Given the description of an element on the screen output the (x, y) to click on. 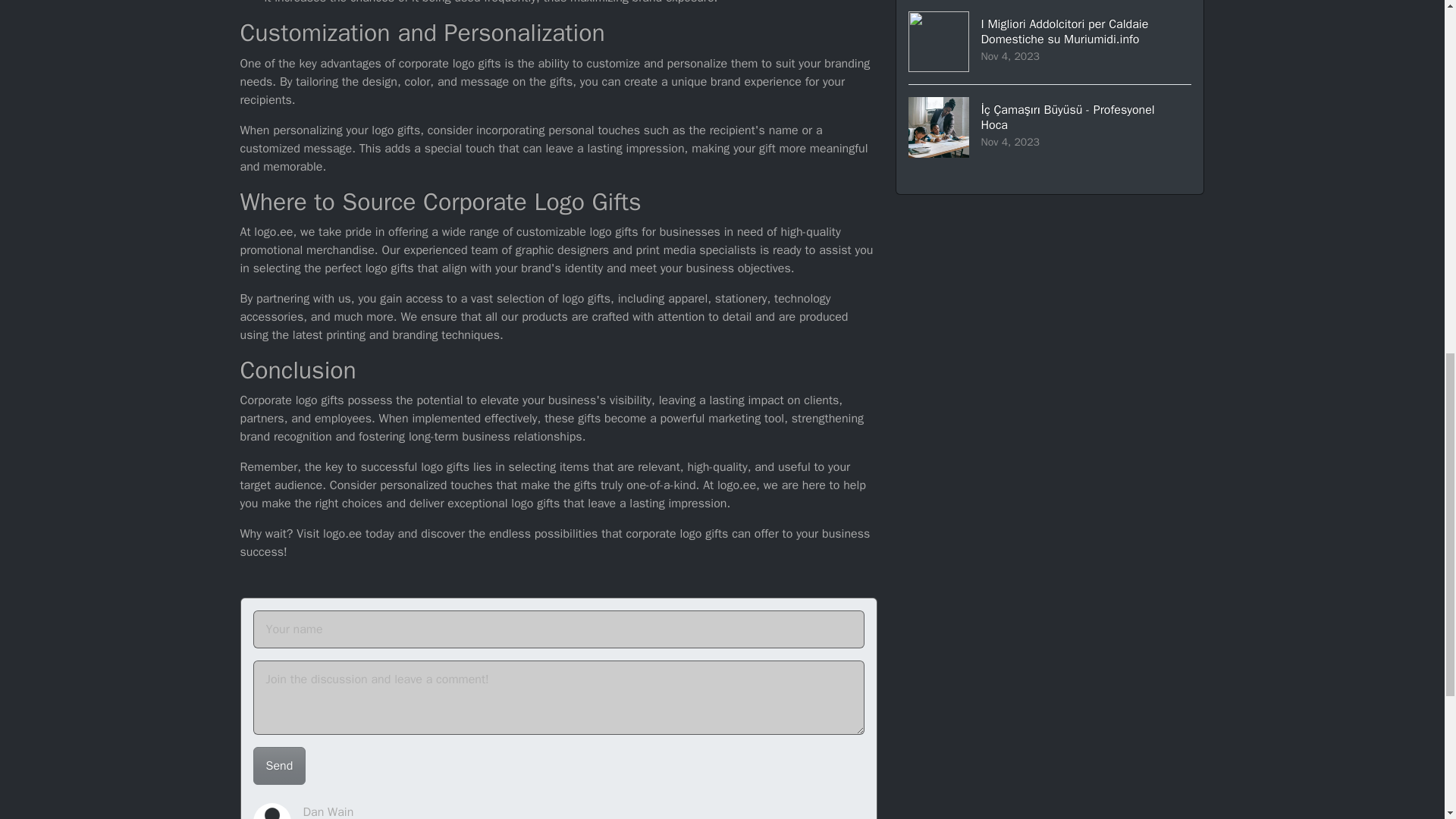
Send (279, 765)
Send (279, 765)
